Given the description of an element on the screen output the (x, y) to click on. 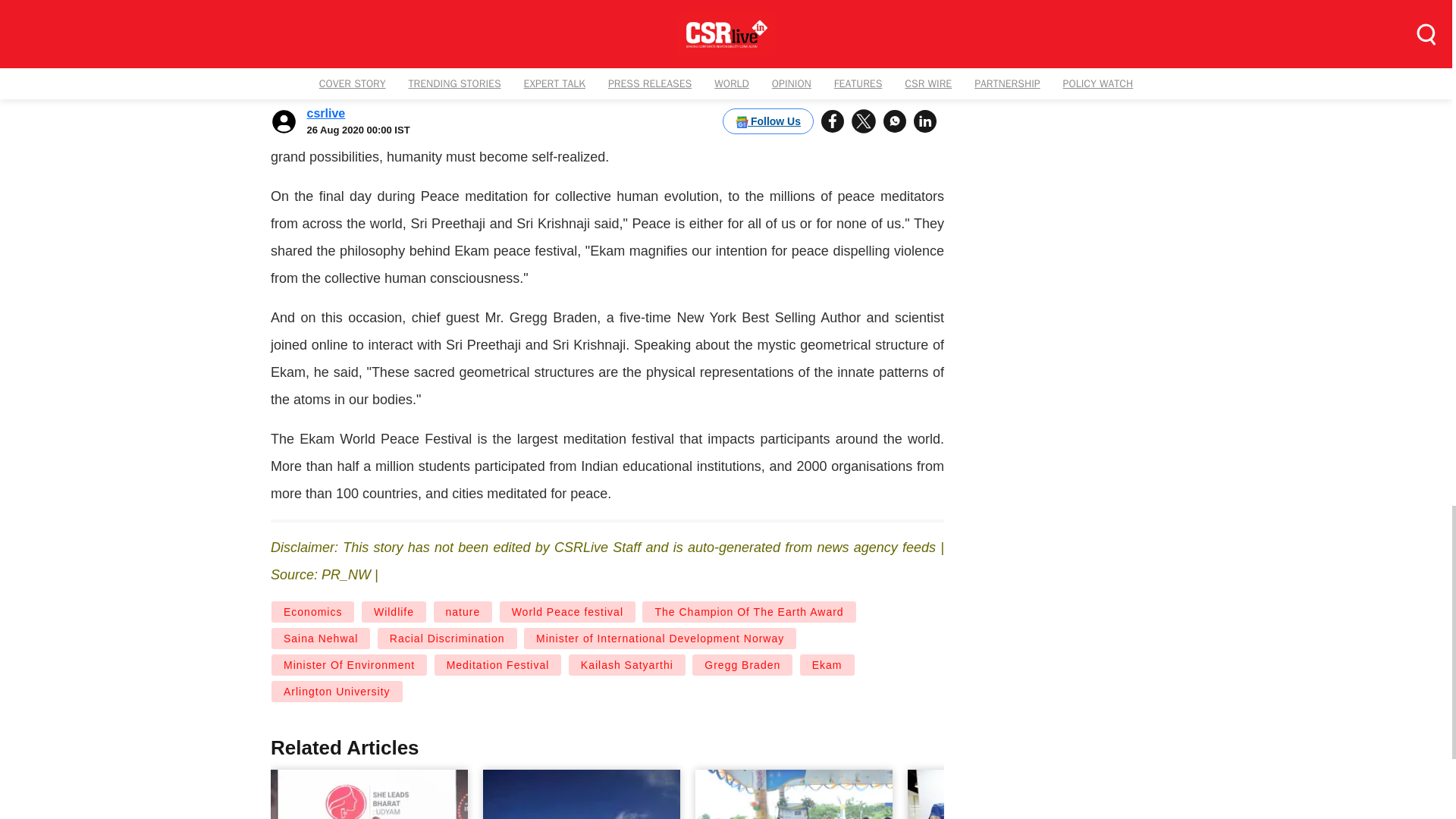
Meditation Festival (497, 664)
Kailash Satyarthi (626, 664)
Arlington University (336, 691)
Racial Discrimination (447, 638)
Saina Nehwal (320, 638)
Wildlife (393, 611)
Economics (312, 611)
The Champion Of The Earth Award (749, 611)
Gregg Braden (742, 664)
World Peace festival (567, 611)
Minister of International Development Norway (659, 638)
Ekam (827, 664)
